Given the description of an element on the screen output the (x, y) to click on. 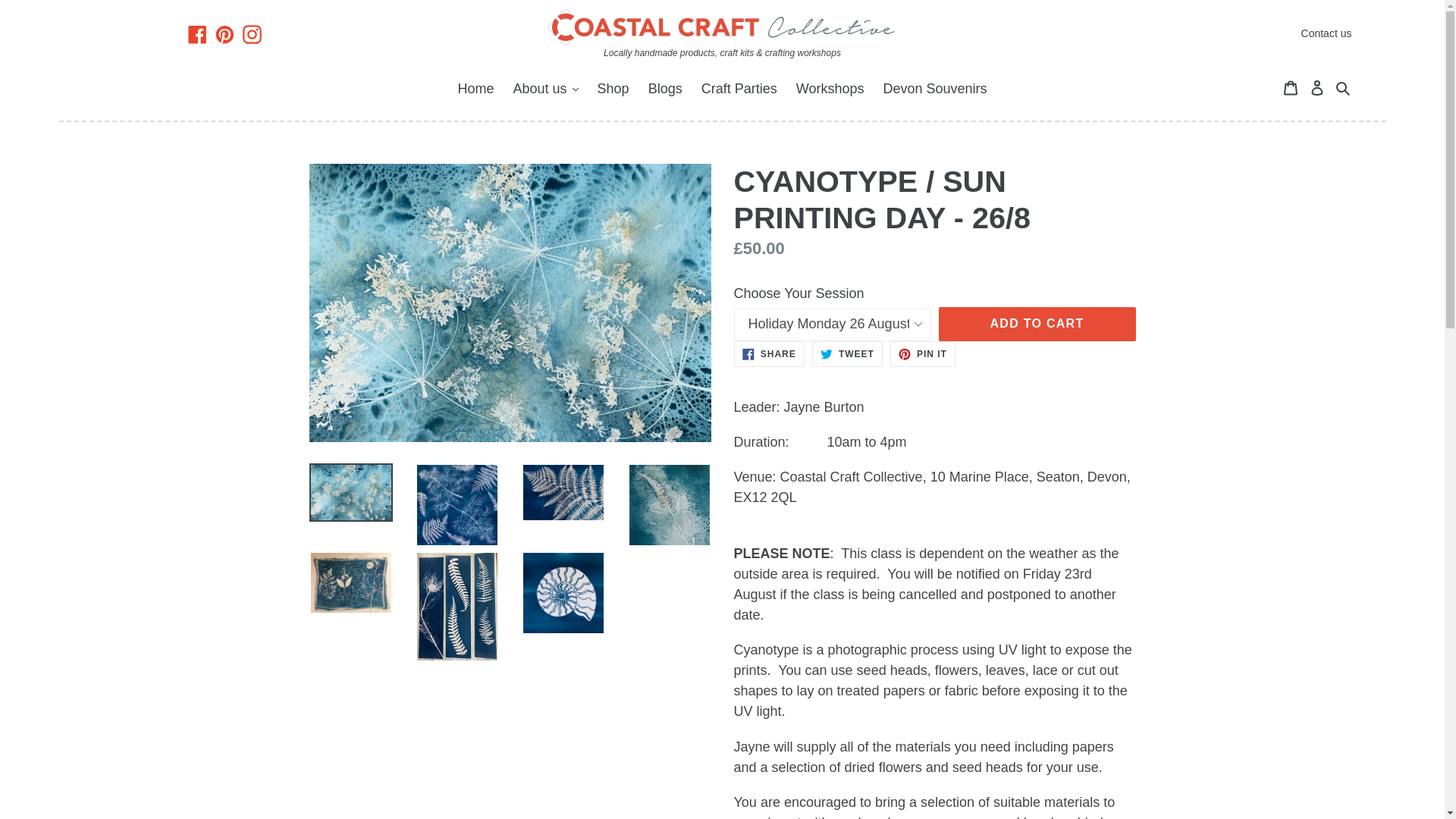
Pin on Pinterest (922, 353)
Home (474, 89)
Pinterest (223, 33)
Share on Facebook (769, 353)
Tweet on Twitter (847, 353)
Coastal Craft Collective on Instagram (251, 33)
Coastal Craft Collective on Facebook (197, 33)
Facebook (197, 33)
Coastal Craft Collective on Pinterest (223, 33)
Instagram (251, 33)
